Given the description of an element on the screen output the (x, y) to click on. 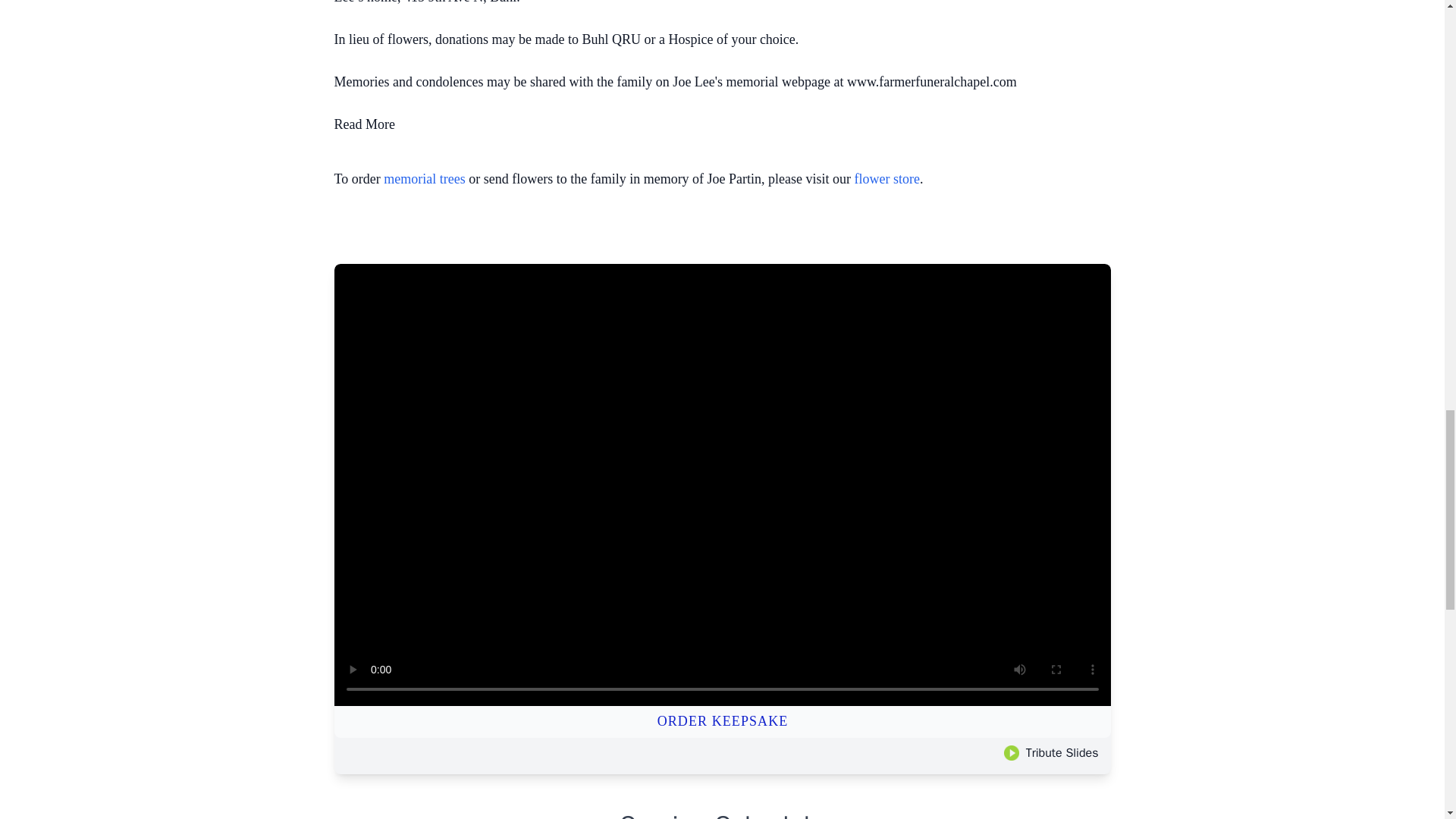
Read More (363, 124)
flower store (887, 178)
memorial trees (424, 178)
